Given the description of an element on the screen output the (x, y) to click on. 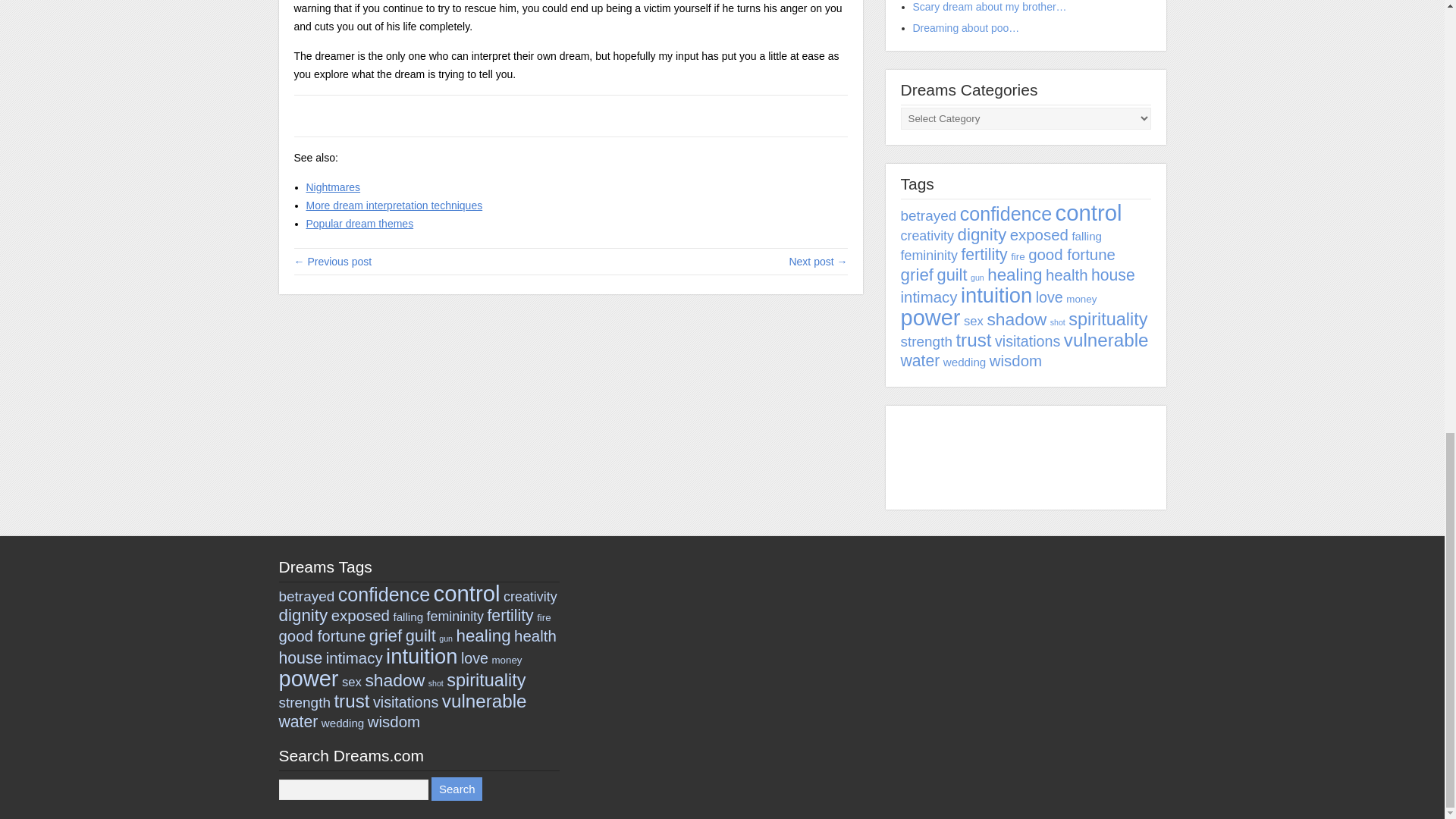
Nightmares (333, 186)
betrayed (928, 215)
confidence (1005, 213)
I dreamed I was stabbed several times... (818, 261)
dignity (981, 234)
Popular dream themes (359, 223)
fertility (983, 253)
grief (917, 274)
More dream interpretation techniques (394, 205)
Search (456, 788)
